Given the description of an element on the screen output the (x, y) to click on. 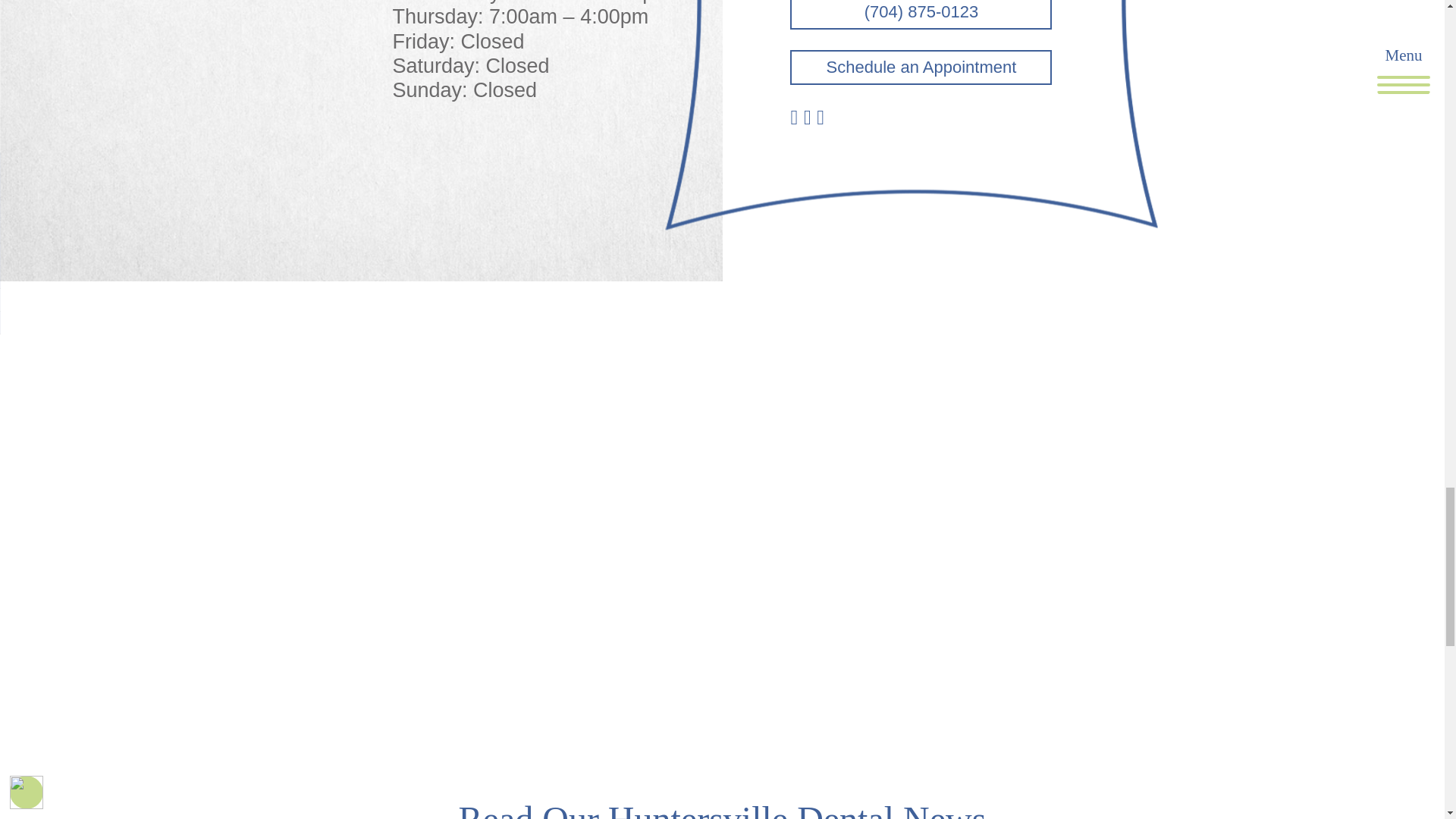
Schedule an Appointment (920, 67)
